Given the description of an element on the screen output the (x, y) to click on. 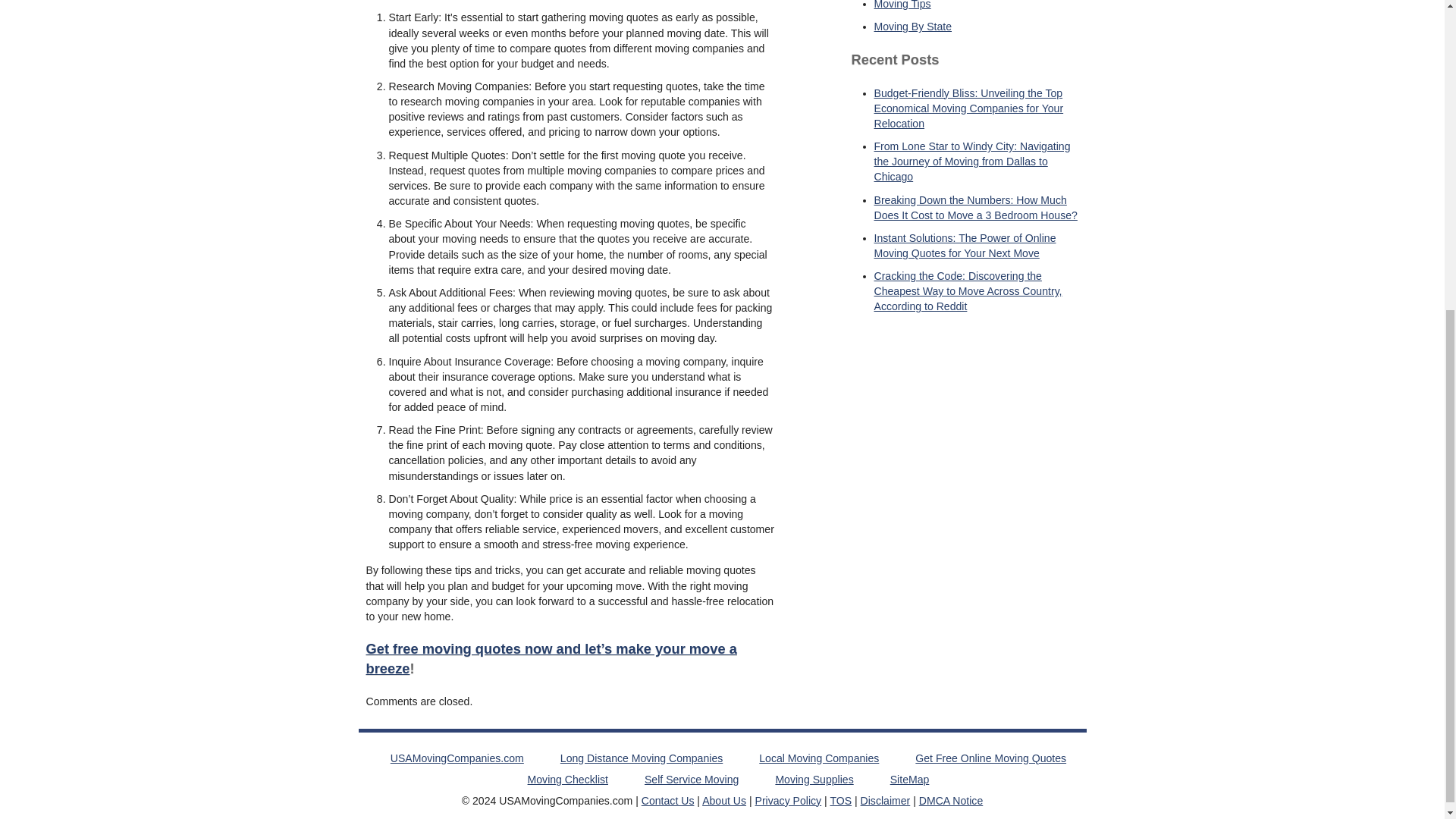
Moving Checklist (567, 779)
terms of service (840, 800)
Privacy Policy (788, 800)
about us (723, 800)
Moving By State (912, 26)
Moving Supplies (813, 779)
About Us (723, 800)
SiteMap (909, 779)
Moving Tips (901, 4)
USAMovingCompanies.com (457, 758)
TOS (840, 800)
contact us (668, 800)
Contact Us (668, 800)
